Given the description of an element on the screen output the (x, y) to click on. 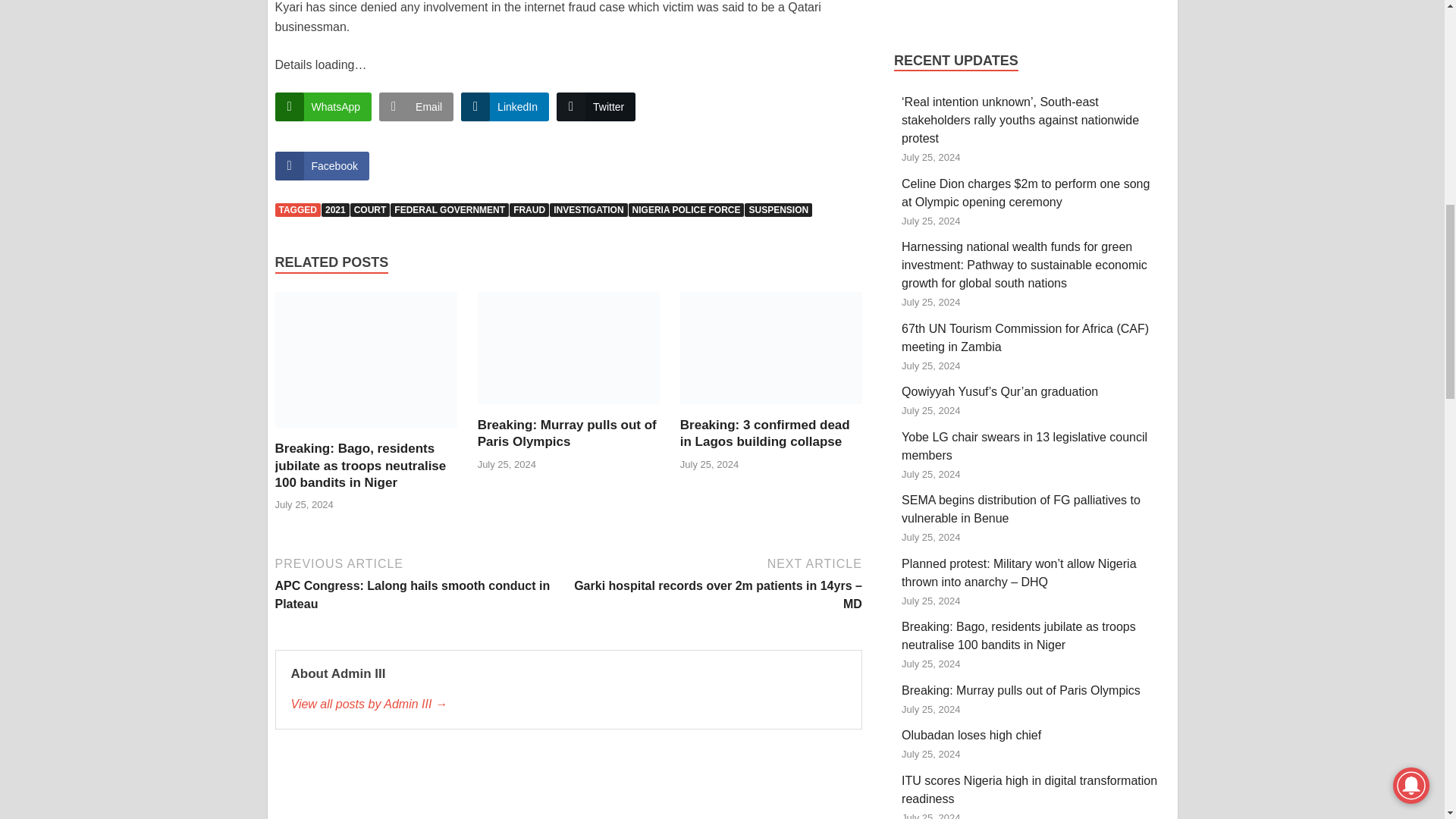
Admin III (568, 704)
Breaking: Murray pulls out of Paris Olympics (566, 432)
Breaking: 3 confirmed dead in Lagos building collapse (764, 432)
Breaking: 3 confirmed dead in Lagos building collapse (770, 353)
Breaking: Murray pulls out of Paris Olympics (568, 353)
